Given the description of an element on the screen output the (x, y) to click on. 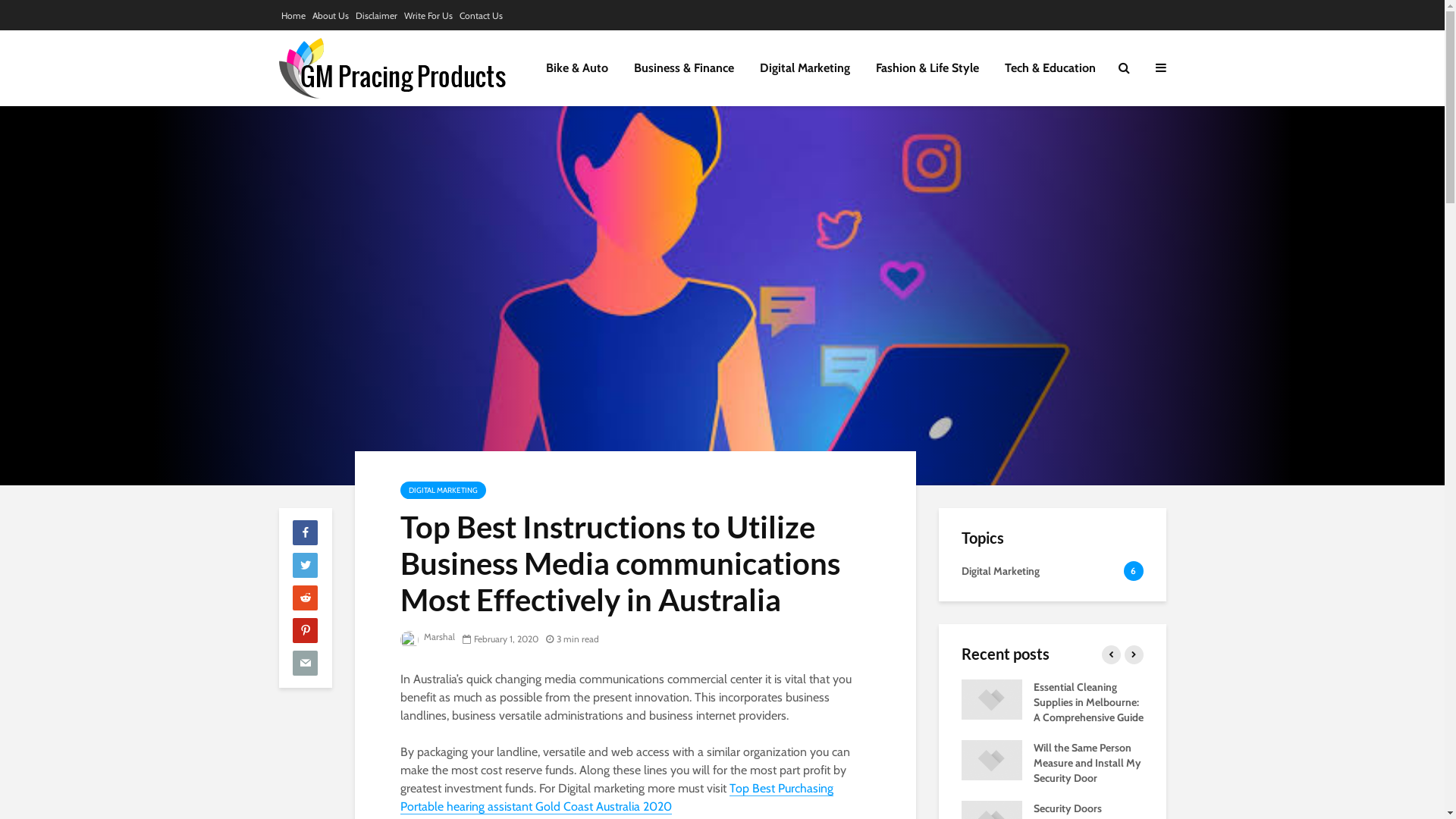
Digital Marketing
6 Element type: text (1052, 574)
Will the Same Person Measure and Install My Security Door Element type: hover (991, 758)
Business & Finance Element type: text (682, 68)
Disclaimer Element type: text (375, 15)
Fashion & Life Style Element type: text (927, 68)
Home Element type: text (292, 15)
Tech & Education Element type: text (1050, 68)
Bike & Auto Element type: text (575, 68)
Digital Marketing Element type: text (803, 68)
Write For Us Element type: text (427, 15)
Will the Same Person Measure and Install My Security Door Element type: text (1086, 762)
Marshal Element type: text (427, 636)
Contact Us Element type: text (480, 15)
About Us Element type: text (330, 15)
DIGITAL MARKETING Element type: text (443, 489)
